Given the description of an element on the screen output the (x, y) to click on. 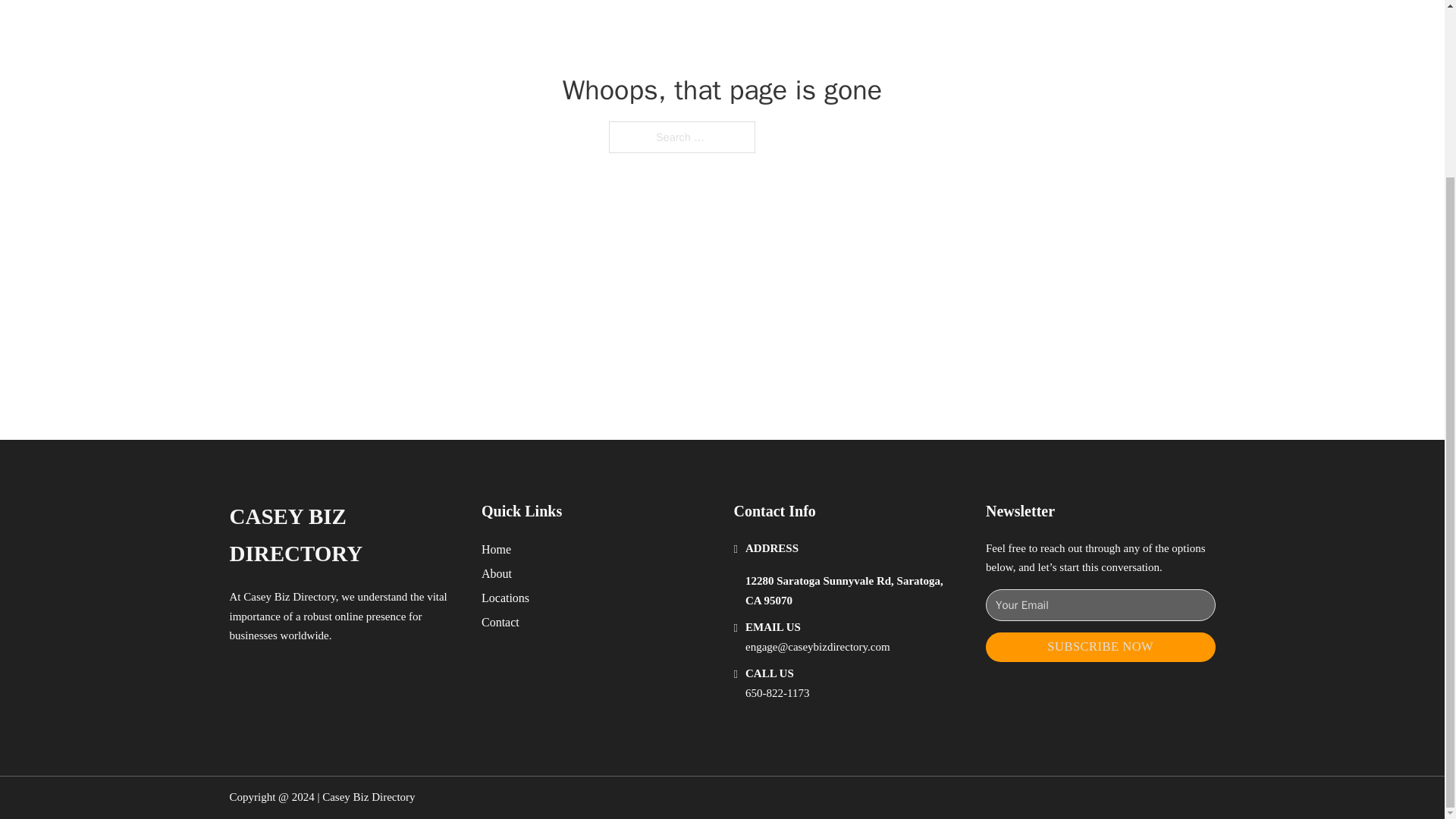
SUBSCRIBE NOW (1100, 646)
Locations (505, 598)
650-822-1173 (777, 693)
CASEY BIZ DIRECTORY (343, 535)
About (496, 573)
Contact (500, 621)
Home (496, 548)
